Given the description of an element on the screen output the (x, y) to click on. 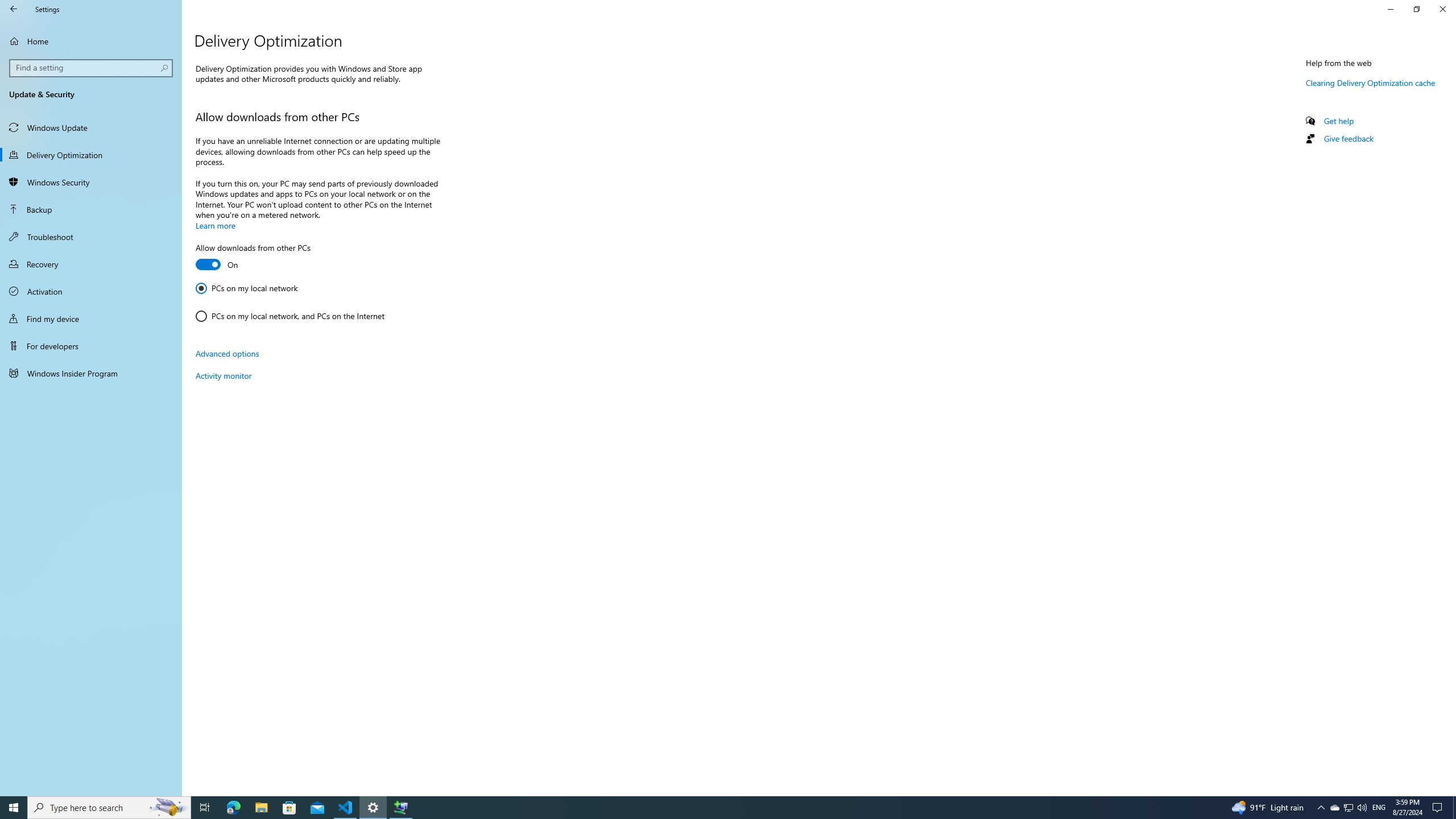
Windows Security (91, 181)
Close Settings (1442, 9)
